Given the description of an element on the screen output the (x, y) to click on. 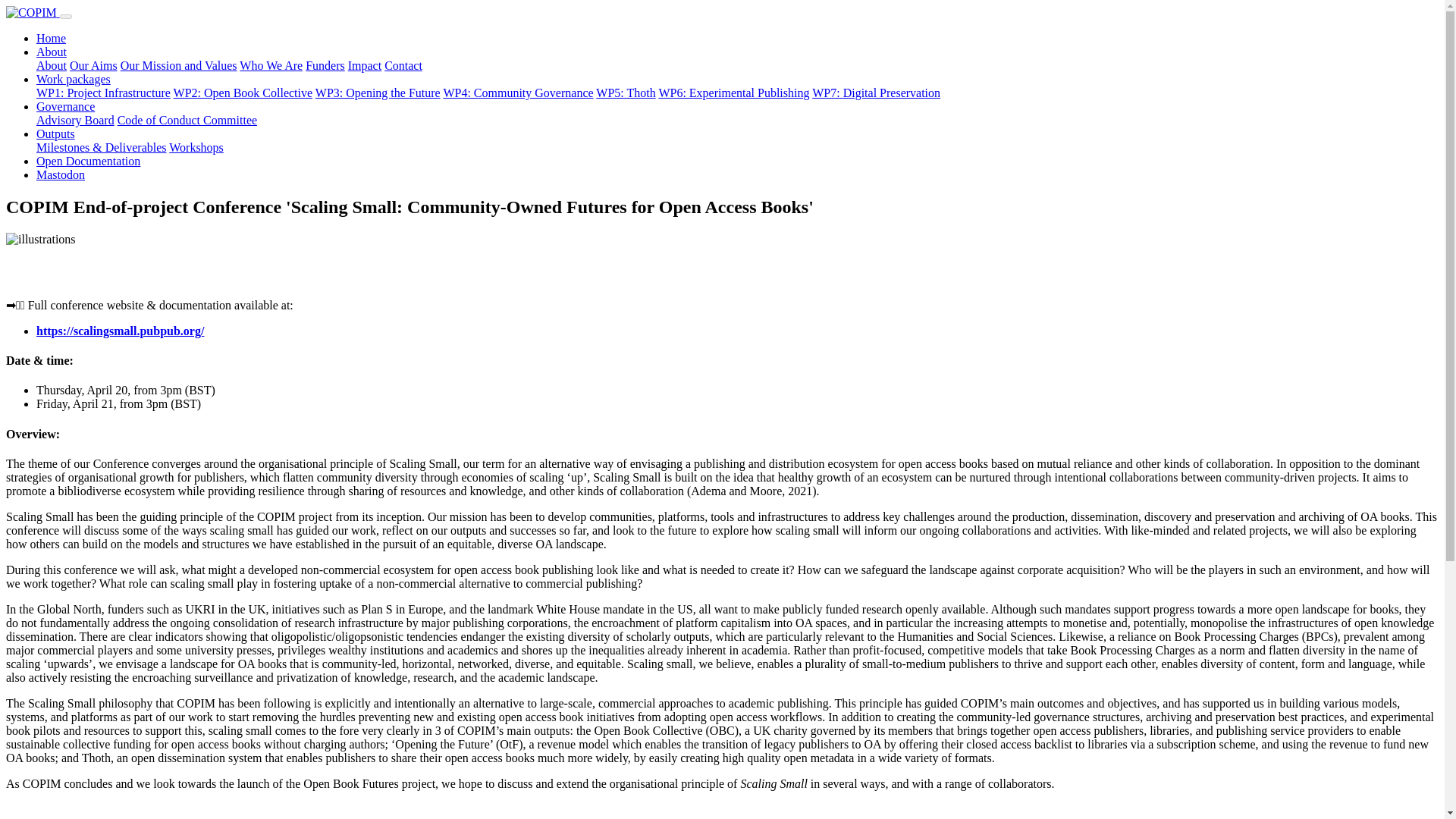
WP1: Project Infrastructure (103, 92)
Work packages (73, 78)
About (51, 51)
Governance (65, 106)
WP2: Open Book Collective (243, 92)
Open Documentation (87, 160)
Home (50, 38)
Our Mission and Values (178, 65)
Funders (325, 65)
Our Aims (93, 65)
